Given the description of an element on the screen output the (x, y) to click on. 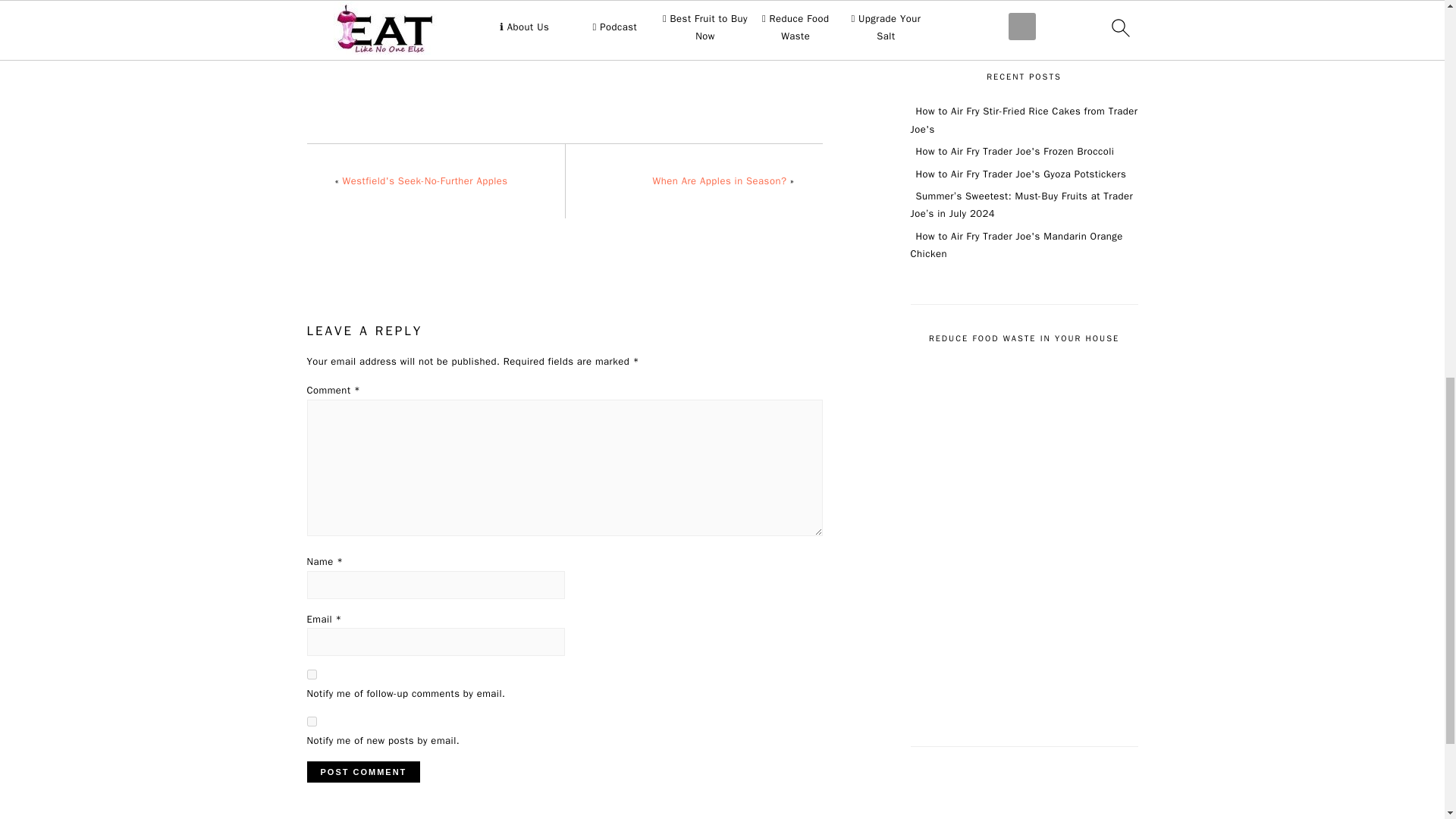
subscribe (310, 721)
Post Comment (362, 771)
subscribe (310, 674)
